Given the description of an element on the screen output the (x, y) to click on. 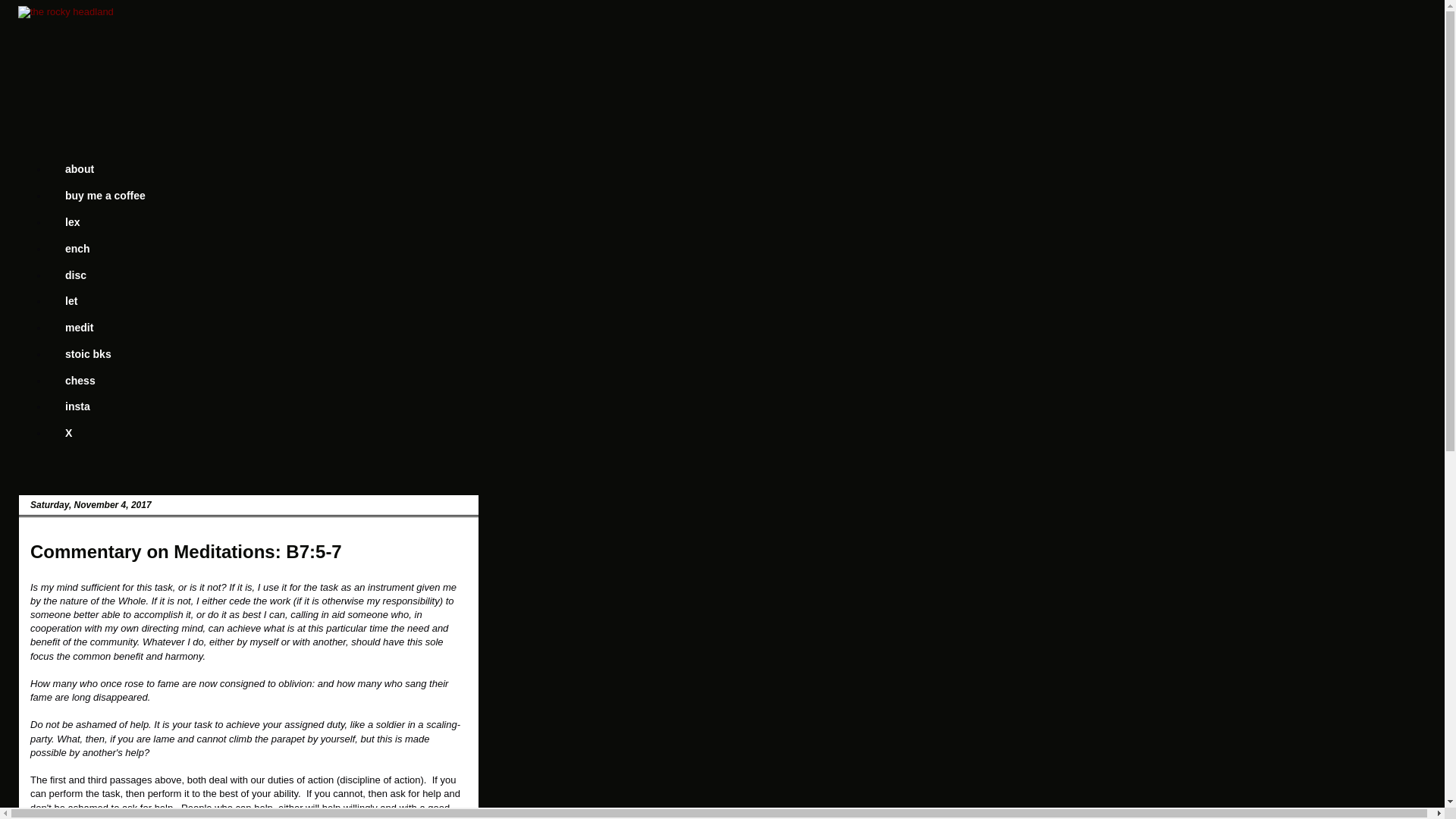
medit (78, 327)
let (70, 301)
stoic bks (88, 353)
buy me a coffee (104, 195)
X (68, 433)
about (79, 169)
ench (77, 248)
disc (74, 274)
chess (80, 379)
insta (77, 406)
